Given the description of an element on the screen output the (x, y) to click on. 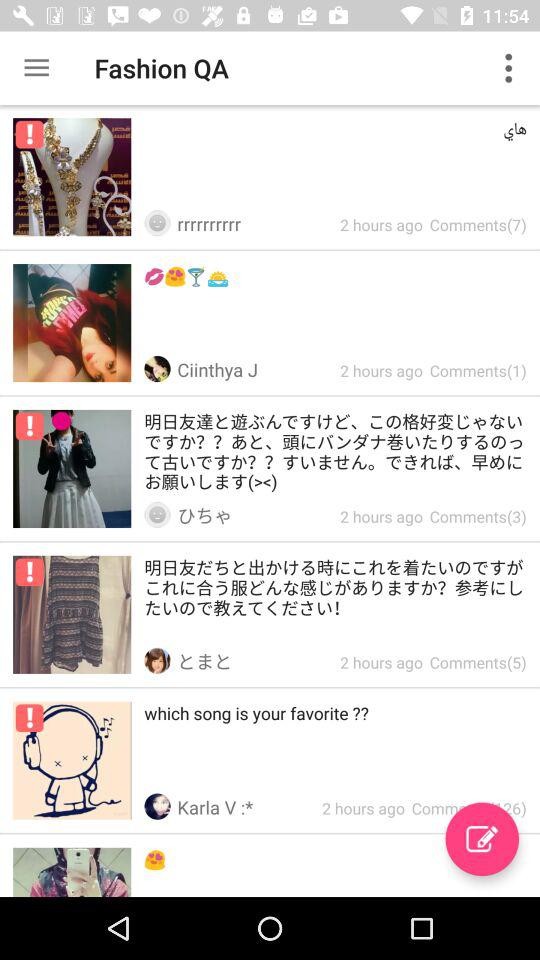
create a post (482, 839)
